Given the description of an element on the screen output the (x, y) to click on. 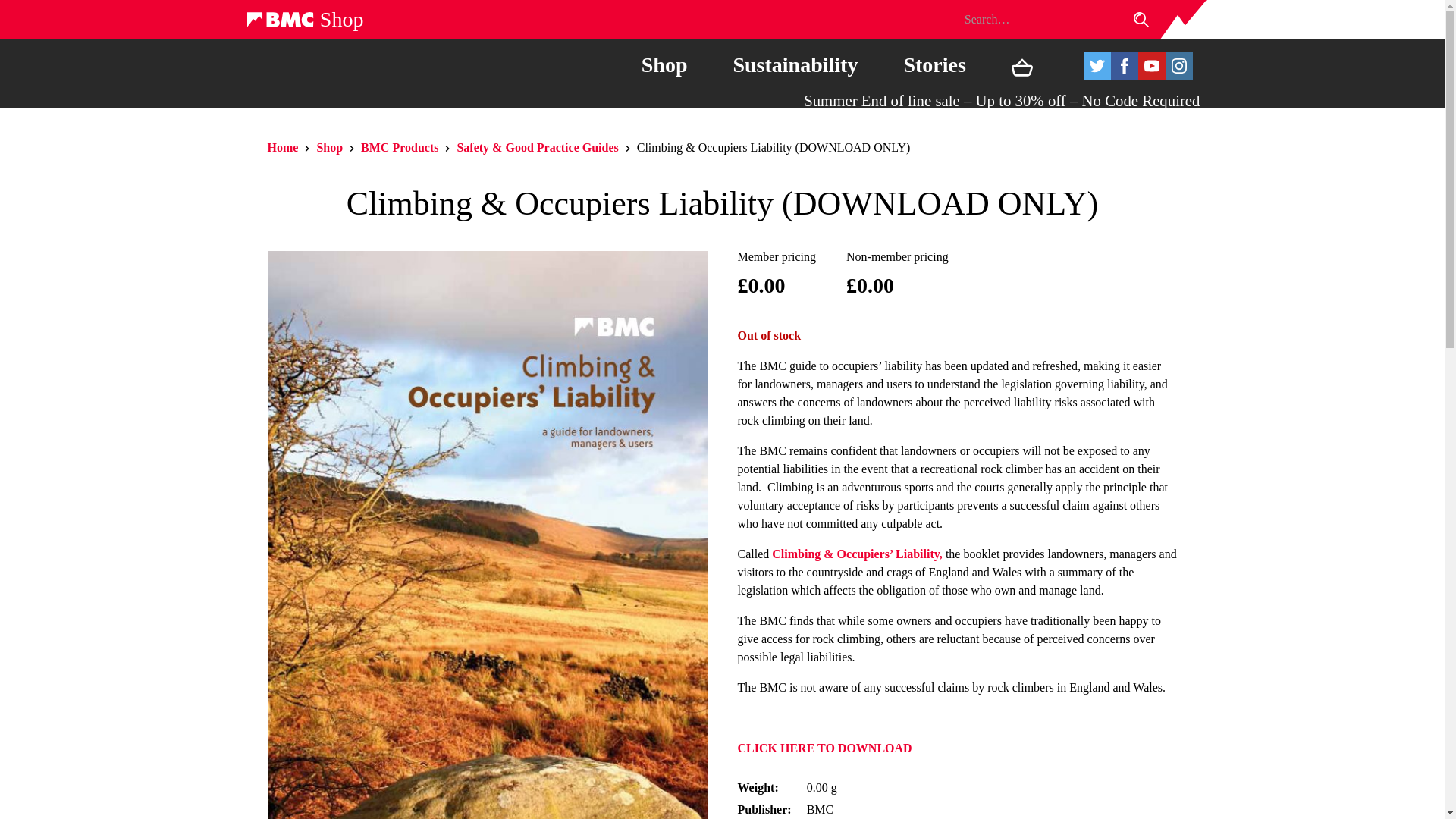
Home (282, 146)
Sustainability (794, 64)
CLICK HERE TO DOWNLOAD (823, 748)
Shop (303, 18)
BMC Products (399, 146)
Stories (933, 64)
Shop (664, 64)
Shop (328, 146)
